Given the description of an element on the screen output the (x, y) to click on. 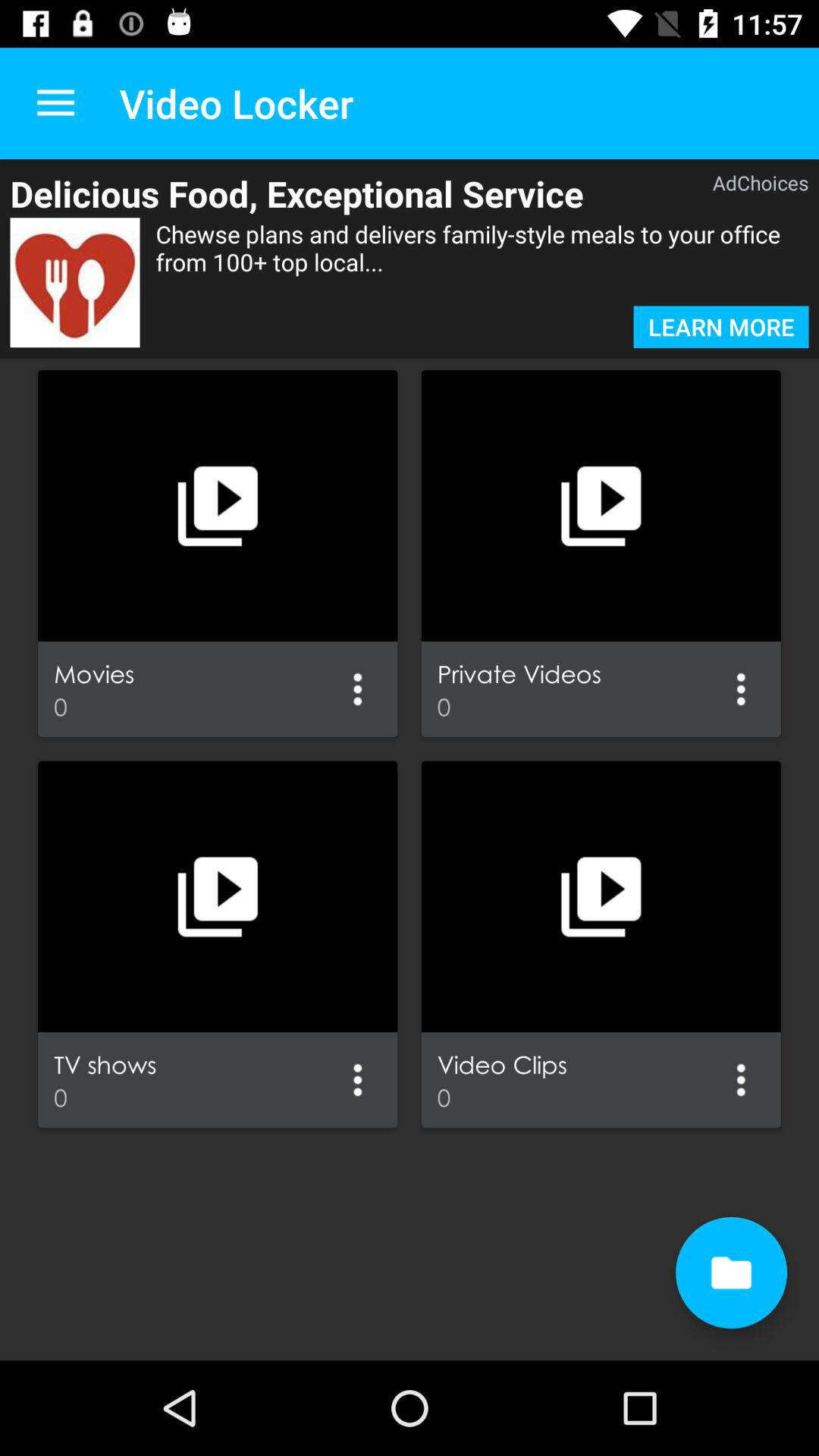
give me more options (357, 689)
